Given the description of an element on the screen output the (x, y) to click on. 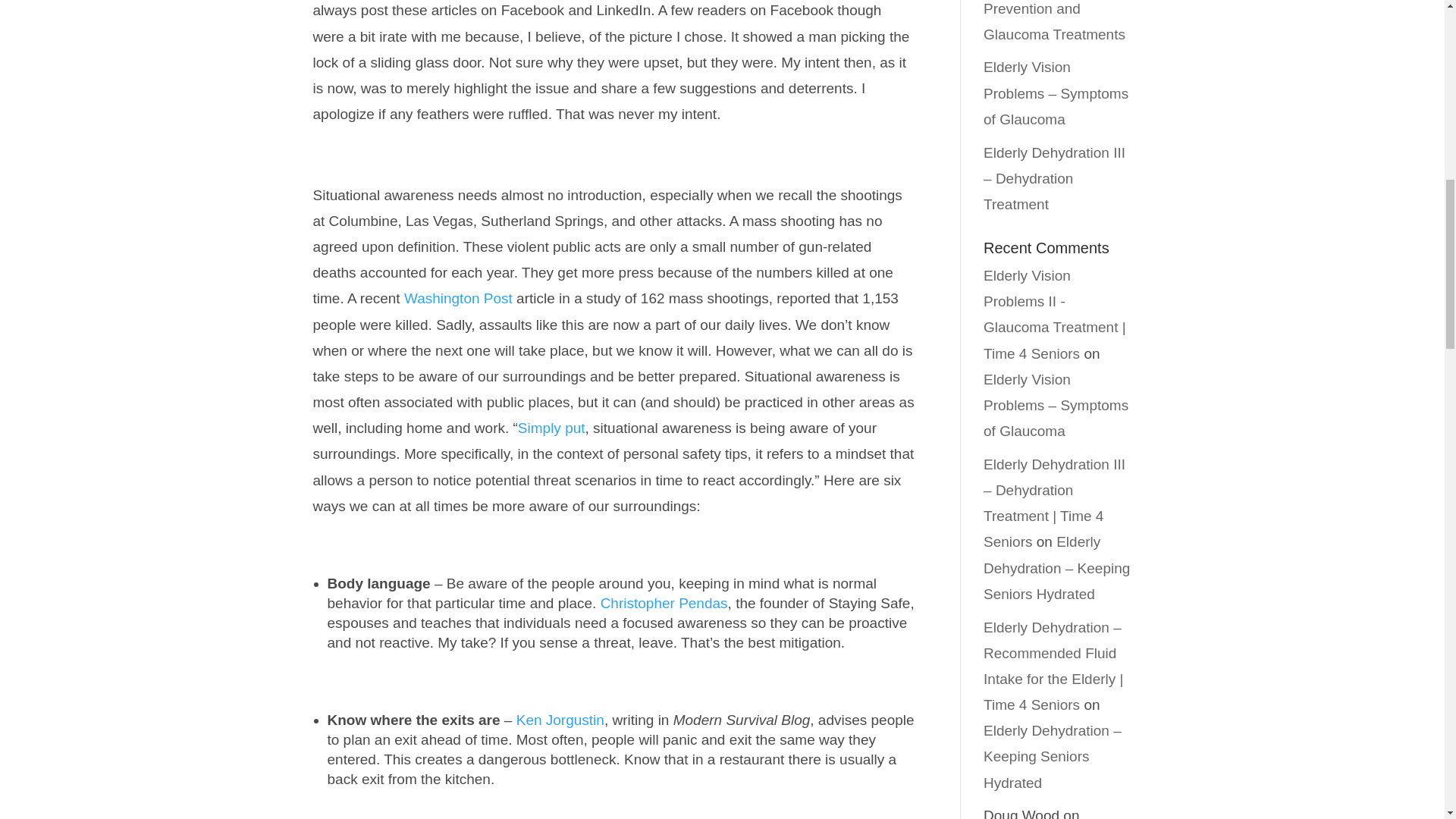
Simply put (551, 427)
Christopher Pendas (663, 602)
Ken Jorgustin (560, 719)
Washington Post (458, 298)
